Given the description of an element on the screen output the (x, y) to click on. 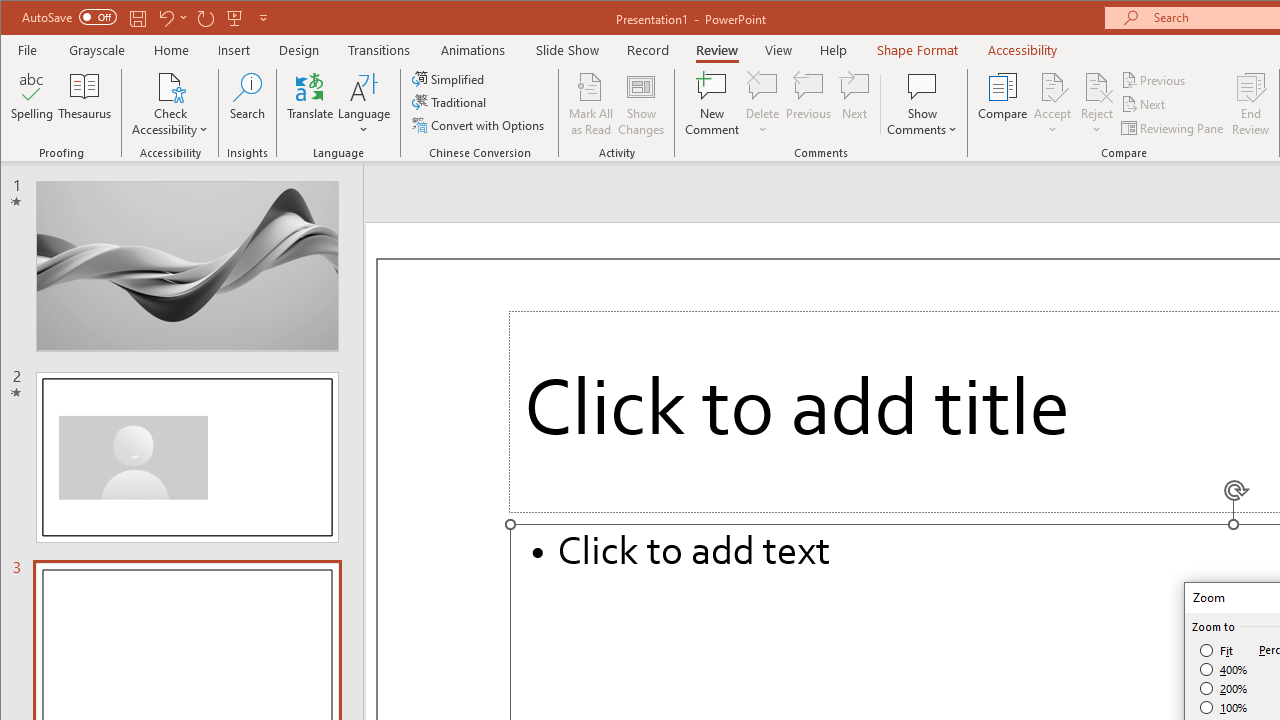
Simplified (450, 78)
Accept Change (1052, 86)
Show Changes (640, 104)
Mark All as Read (591, 104)
400% (1224, 669)
New Comment (712, 104)
200% (1224, 688)
End Review (1251, 104)
